Given the description of an element on the screen output the (x, y) to click on. 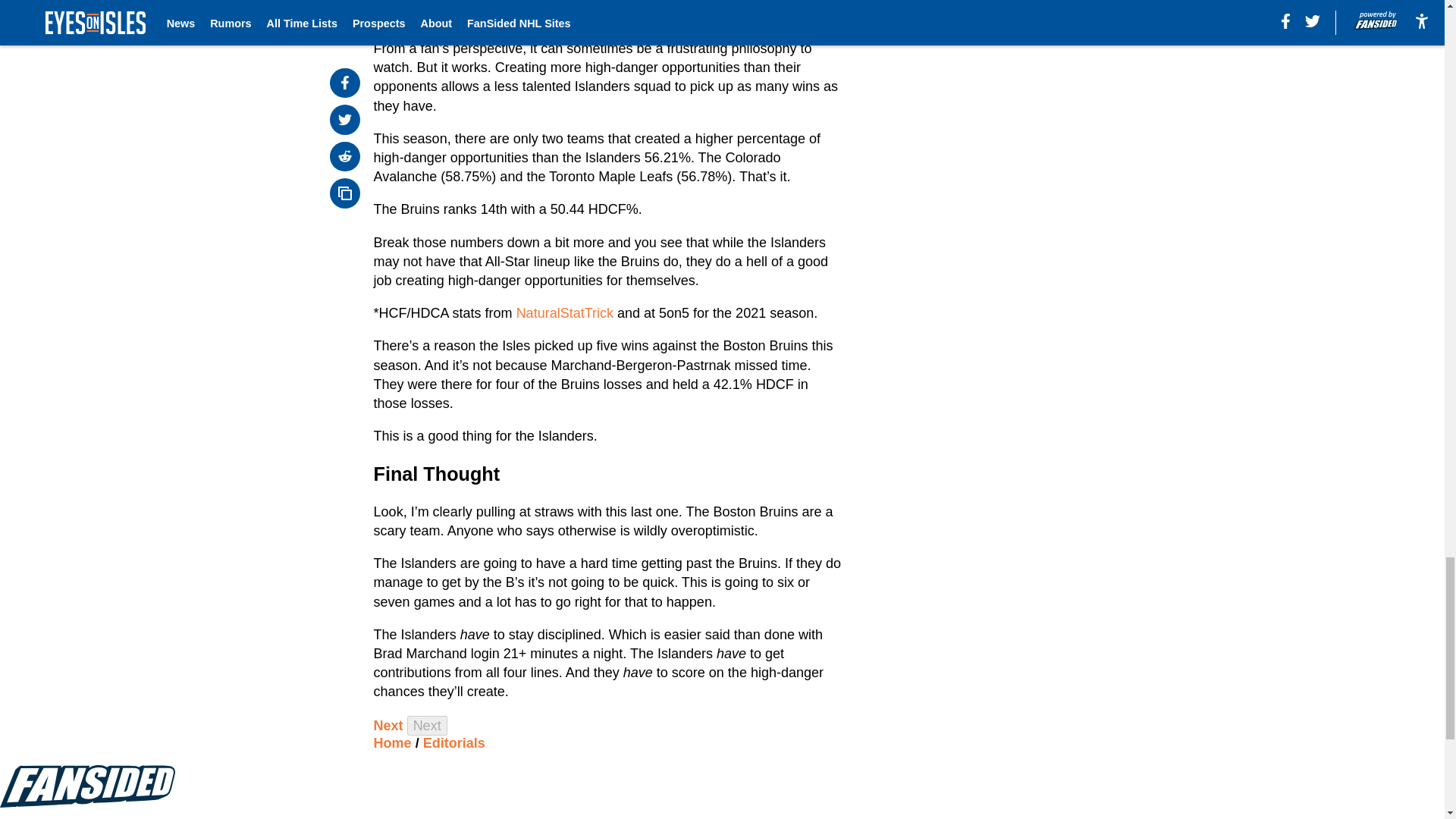
Home (393, 743)
Next (426, 725)
Next (388, 725)
NaturalStatTrick (564, 313)
